Given the description of an element on the screen output the (x, y) to click on. 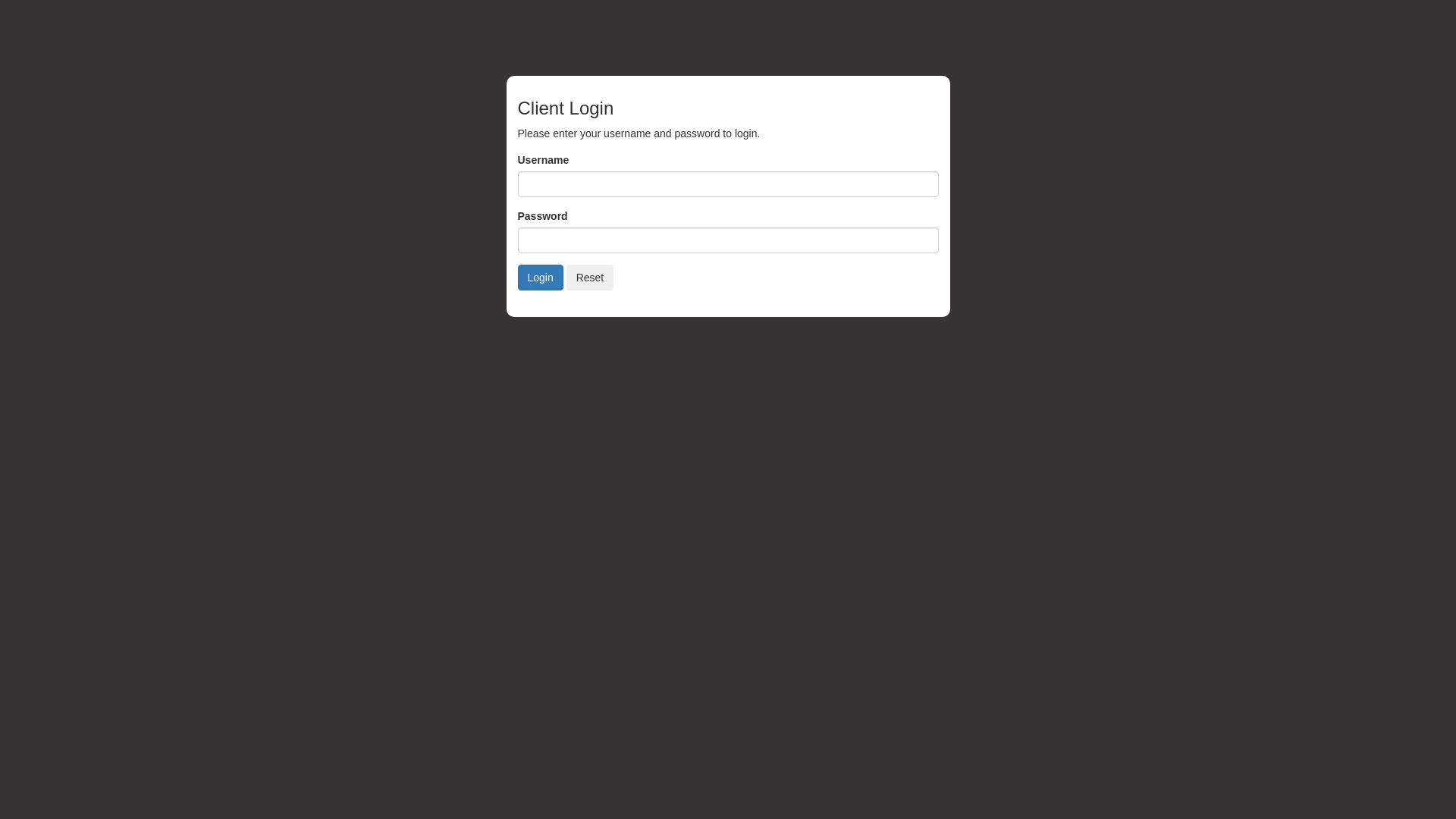
Login Element type: text (539, 277)
